Given the description of an element on the screen output the (x, y) to click on. 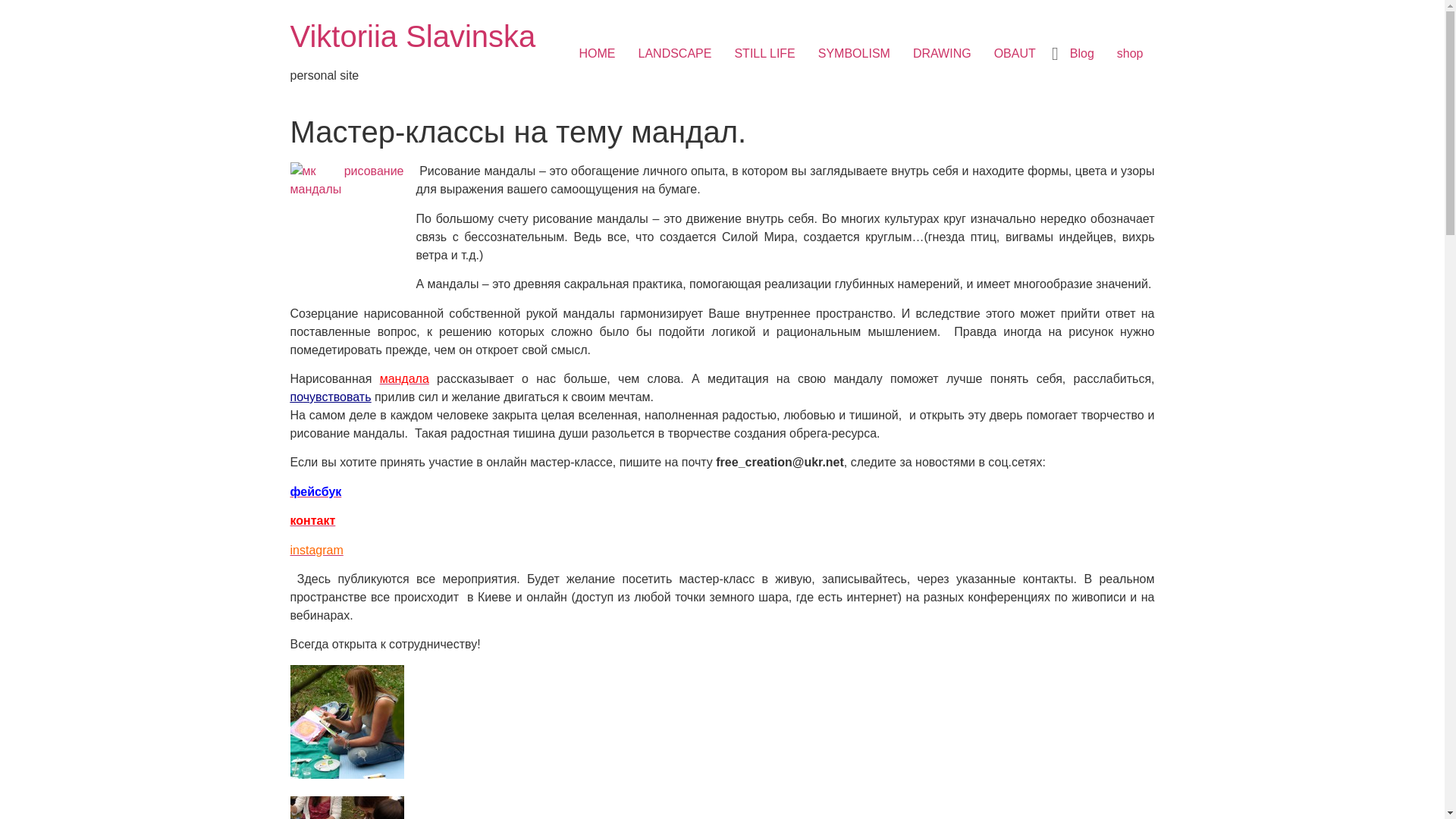
Blog Element type: text (1081, 53)
LANDSCAPE Element type: text (675, 53)
DRAWING Element type: text (941, 53)
HOME Element type: text (597, 53)
STILL LIFE Element type: text (764, 53)
shop Element type: text (1129, 53)
OBAUT Element type: text (1014, 53)
Viktoriia Slavinska Element type: text (412, 36)
instagram Element type: text (315, 549)
SYMBOLISM Element type: text (853, 53)
